Given the description of an element on the screen output the (x, y) to click on. 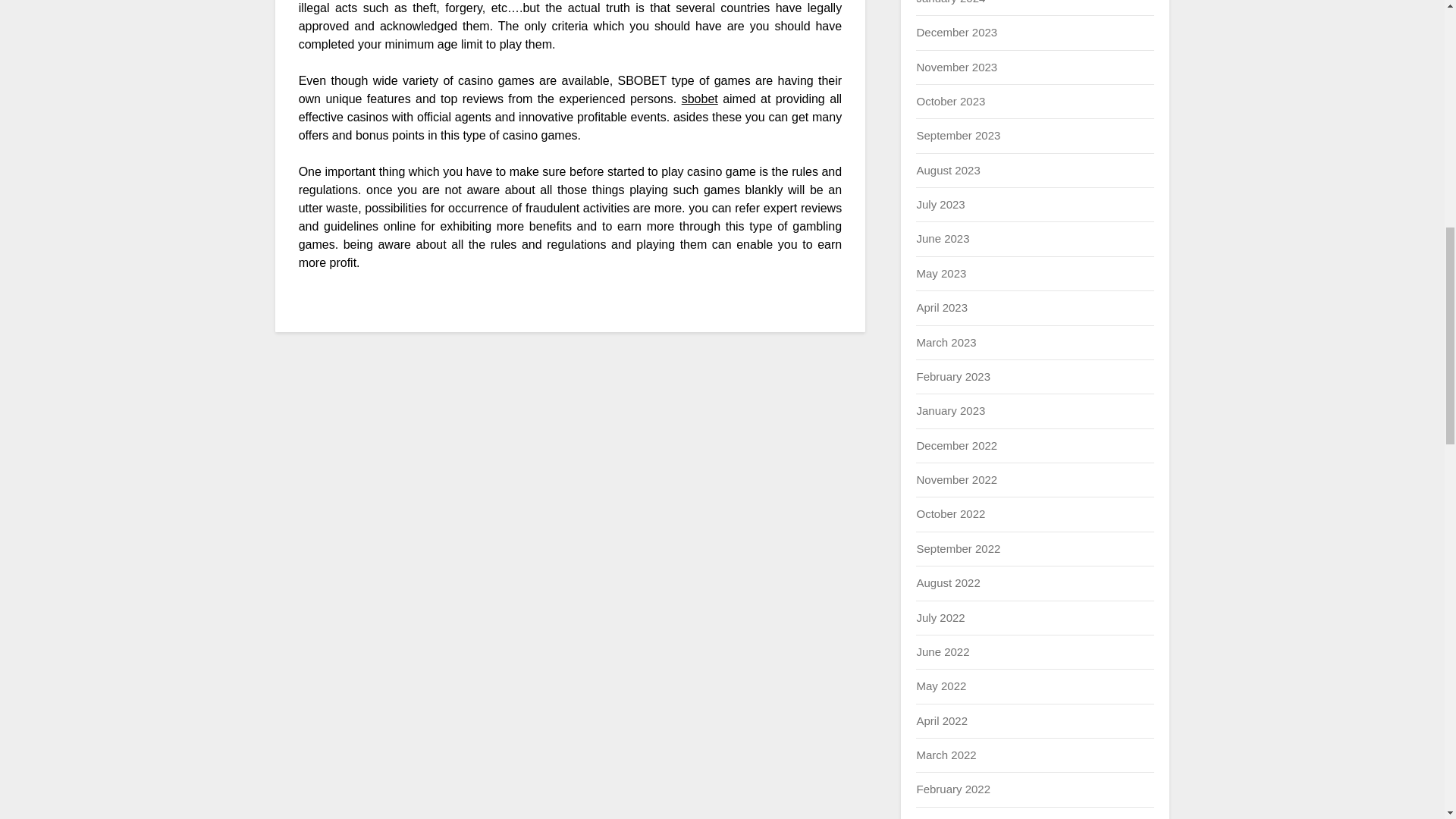
May 2023 (940, 273)
February 2023 (952, 376)
September 2022 (957, 548)
June 2022 (942, 651)
June 2023 (942, 237)
December 2023 (956, 31)
January 2024 (950, 2)
May 2022 (940, 685)
October 2023 (950, 101)
July 2022 (939, 617)
January 2023 (950, 410)
September 2023 (957, 134)
sbobet (699, 98)
October 2022 (950, 513)
November 2022 (956, 479)
